Given the description of an element on the screen output the (x, y) to click on. 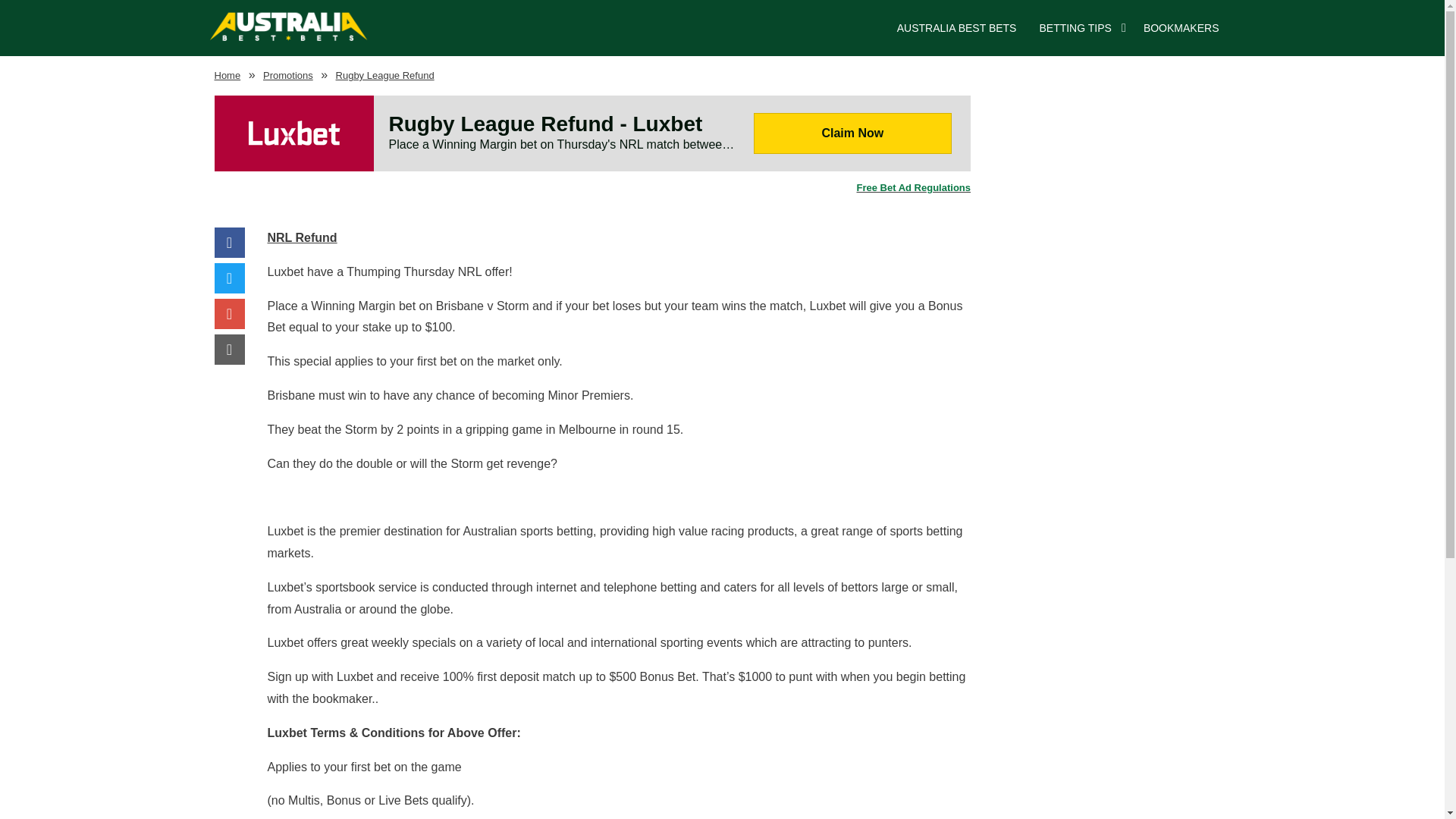
Tweet (229, 278)
Free Bet Ad Regulations (592, 187)
BOOKMAKERS (1181, 28)
BETTING TIPS (1074, 28)
AUSTRALIA BEST BETS (956, 28)
Email (229, 350)
Home (227, 74)
Promotions (288, 74)
Share on Facebook (229, 243)
